Given the description of an element on the screen output the (x, y) to click on. 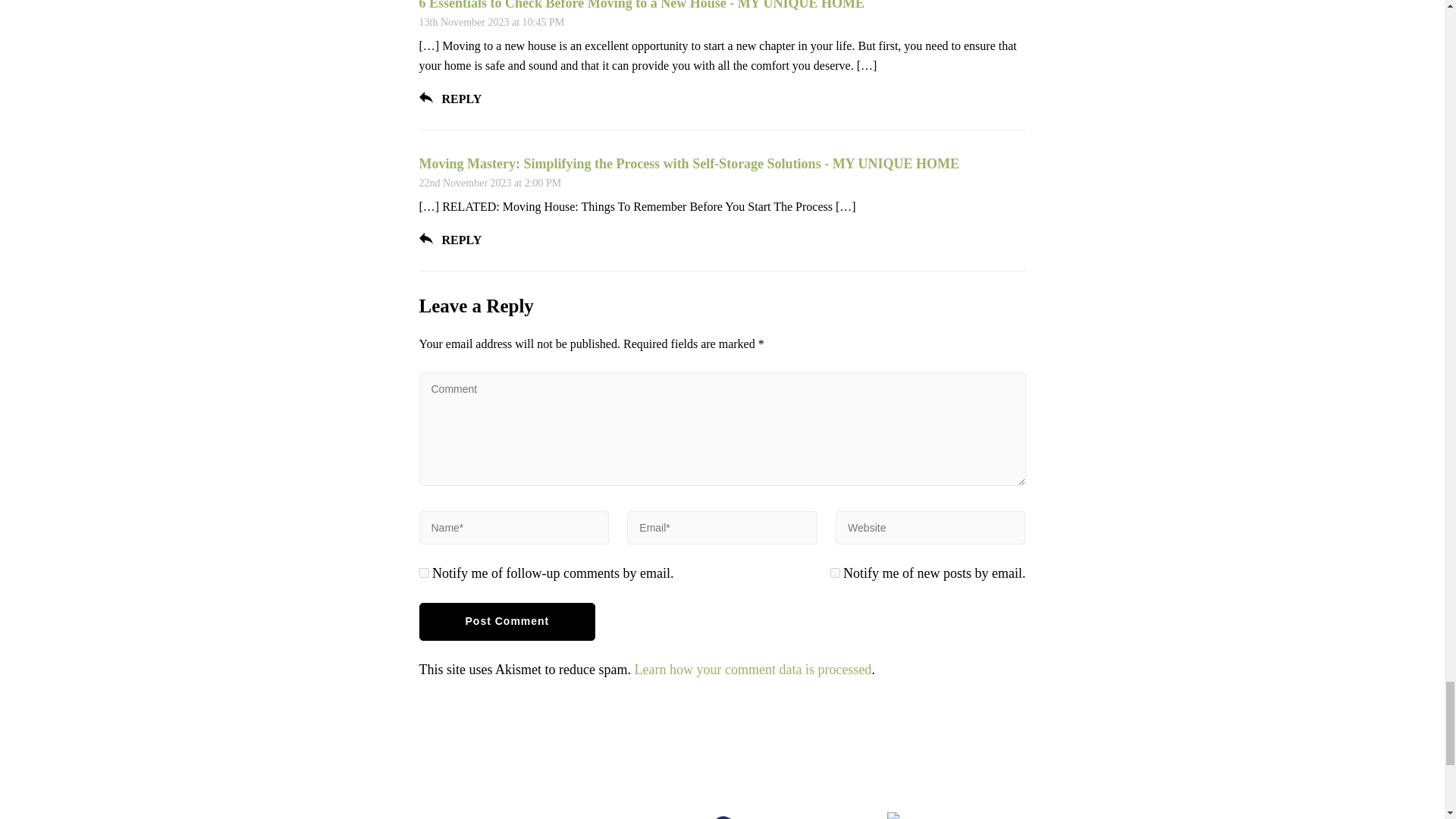
subscribe (834, 573)
subscribe (423, 573)
Post Comment (507, 621)
